Given the description of an element on the screen output the (x, y) to click on. 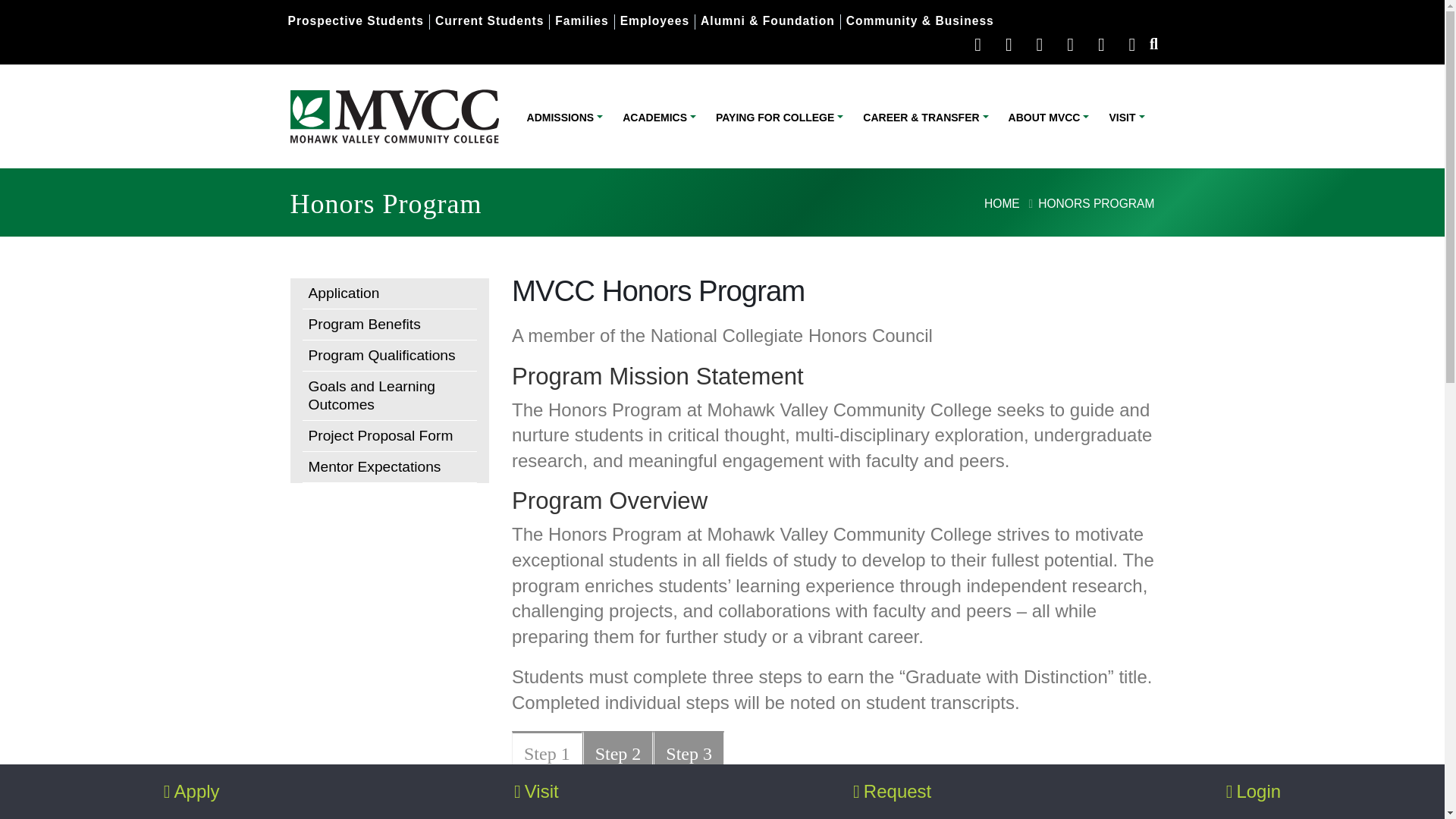
Families and Supporters Home (581, 20)
Mohawk Valley Community College (393, 116)
Current Students Home (489, 20)
Families (581, 20)
Alumni and Donors Home (767, 20)
Honors Application (389, 293)
President's Blog (1131, 43)
Current Students (489, 20)
PAYING FOR COLLEGE (779, 117)
Prospective Students (355, 20)
